Given the description of an element on the screen output the (x, y) to click on. 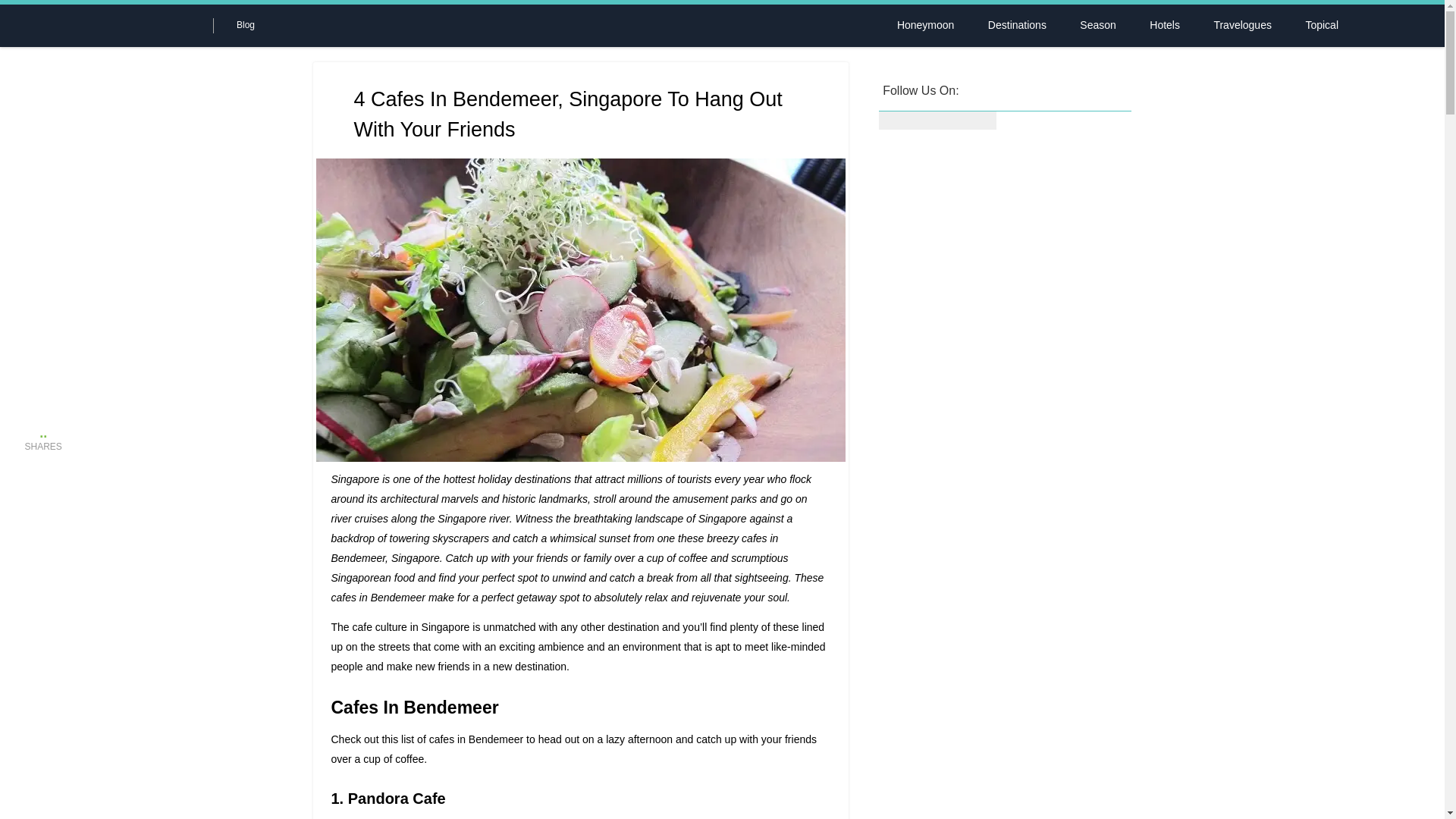
Honeymoon (925, 24)
Topical (1322, 24)
Hotels (1164, 24)
Travelogues (1242, 24)
Season (1097, 24)
Destinations (1016, 24)
Blog (244, 24)
